Given the description of an element on the screen output the (x, y) to click on. 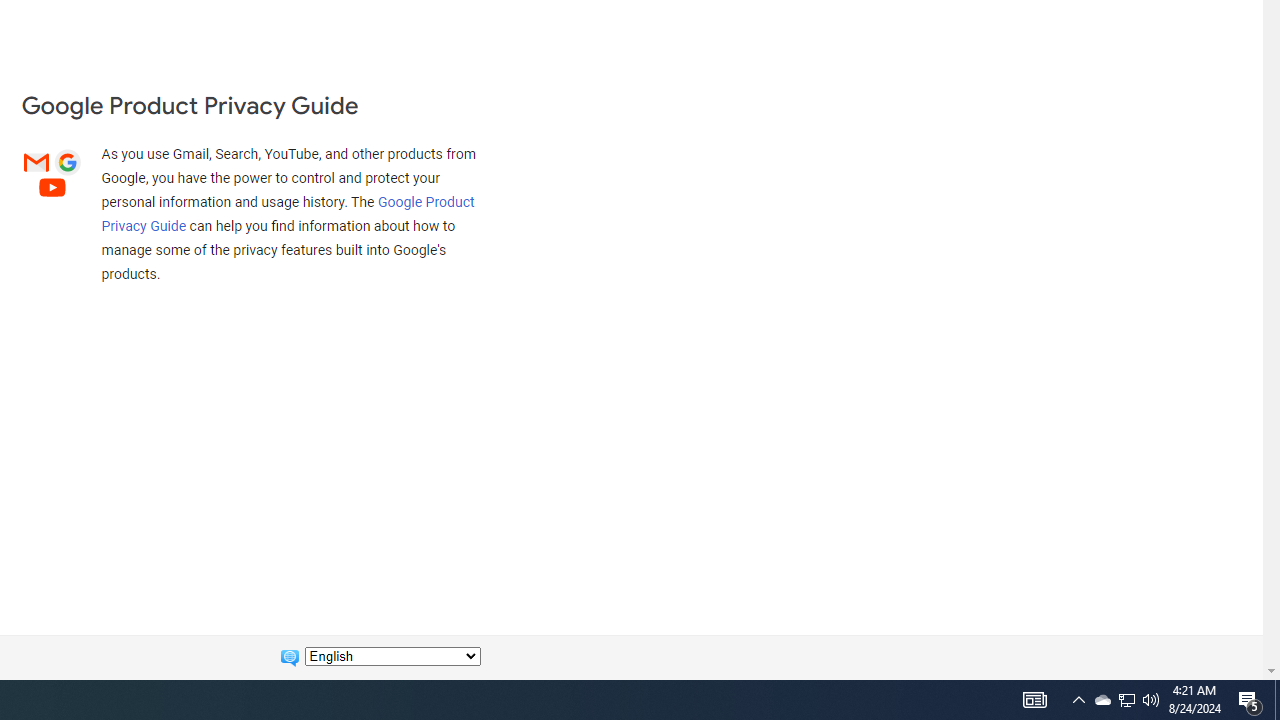
Google Product Privacy Guide (287, 213)
Change language: (392, 656)
